Given the description of an element on the screen output the (x, y) to click on. 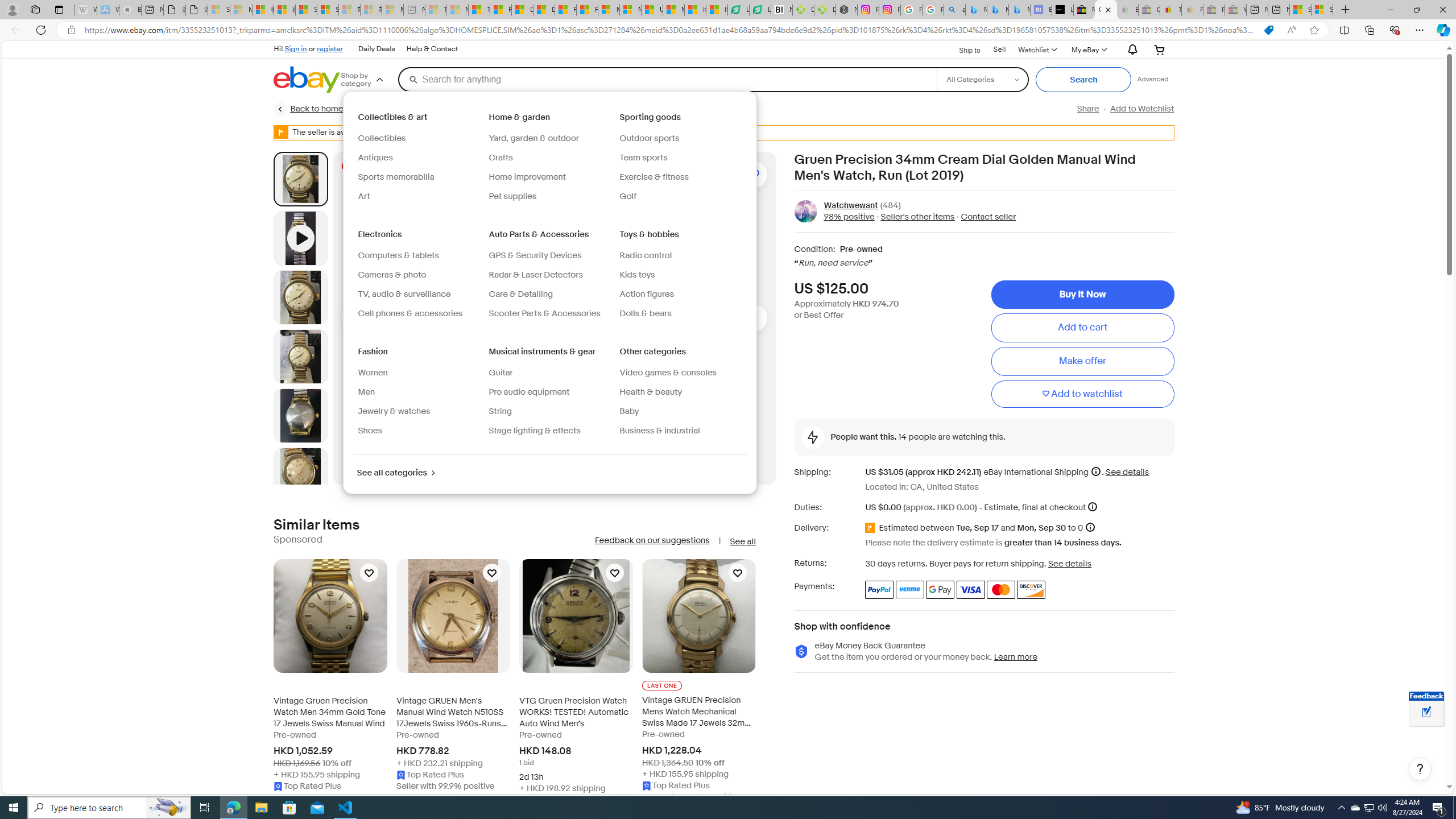
Guitar (499, 372)
Picture 3 of 13 (300, 356)
Pet supplies (549, 196)
Golf (679, 196)
Men (366, 392)
See all (742, 540)
Feedback on our suggestions (652, 540)
eBay Home (306, 79)
Shop by category (368, 79)
